Given the description of an element on the screen output the (x, y) to click on. 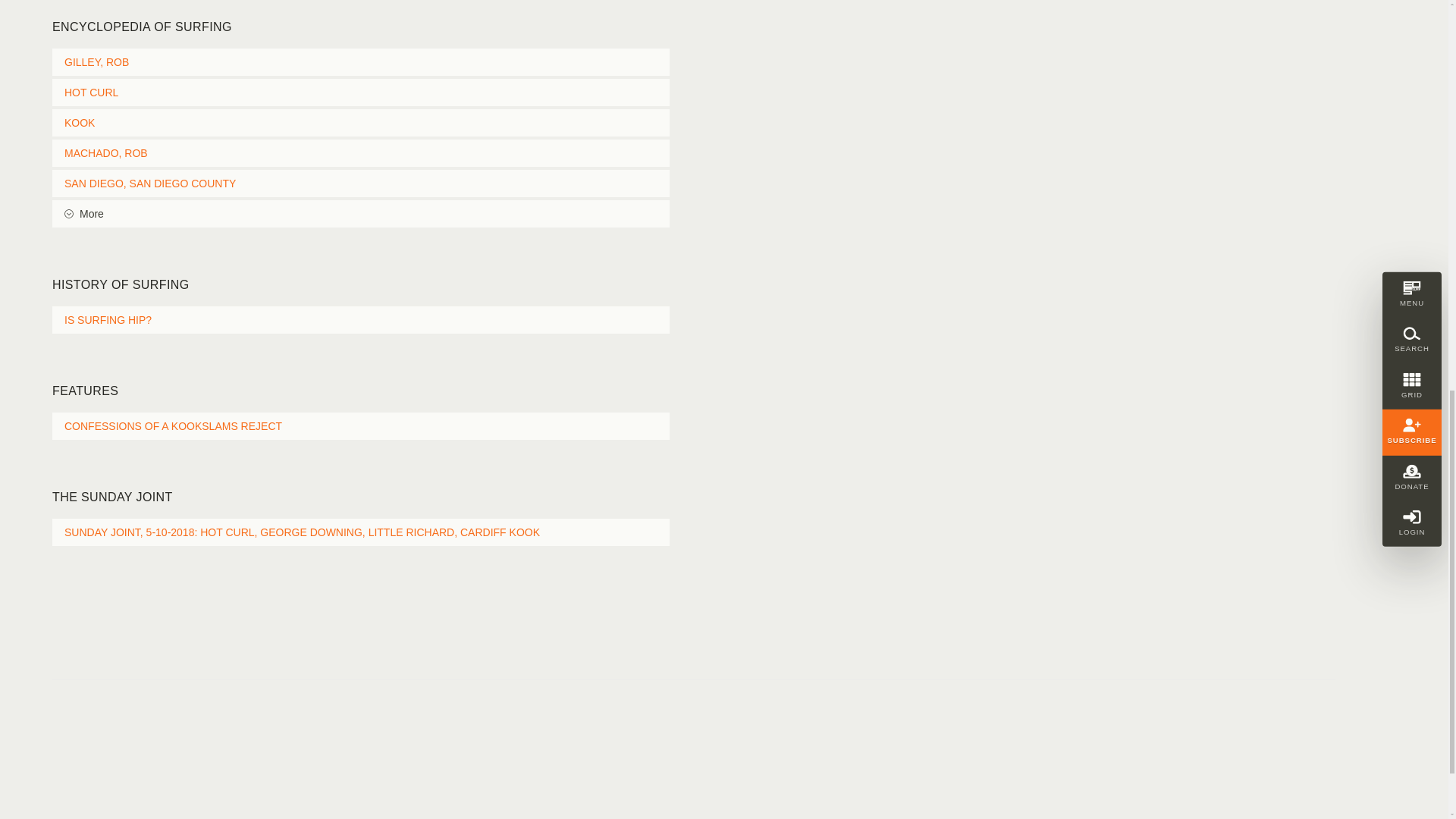
More (360, 213)
KOOK (360, 122)
GILLEY, ROB (360, 62)
MACHADO, ROB (360, 153)
HOT CURL (360, 92)
IS SURFING HIP? (360, 319)
CONFESSIONS OF A KOOKSLAMS REJECT (360, 425)
SAN DIEGO, SAN DIEGO COUNTY (360, 183)
